Given the description of an element on the screen output the (x, y) to click on. 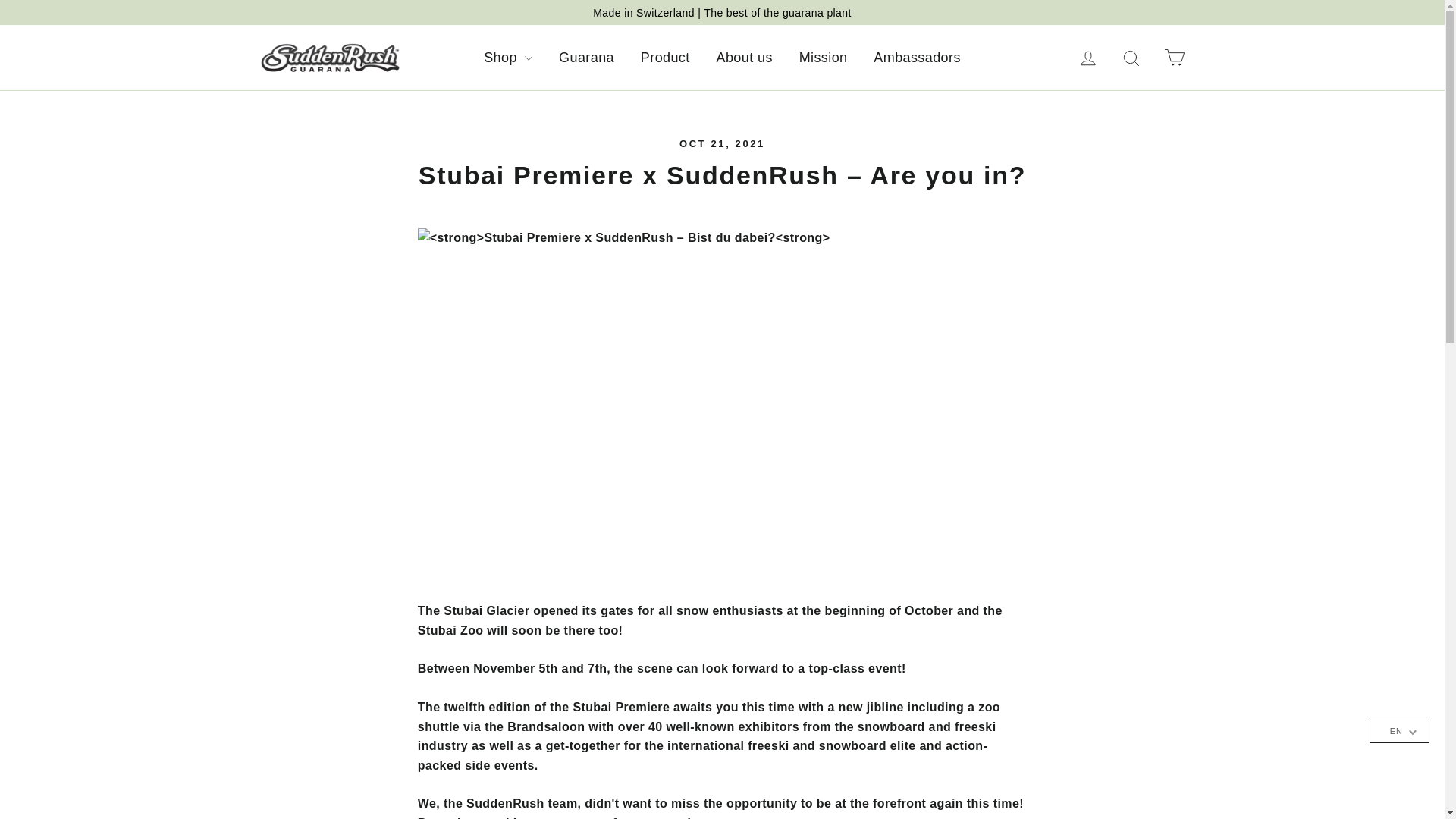
Product (664, 57)
Ambassadors (916, 57)
Log in (1088, 57)
About us (744, 57)
Shop (507, 57)
Guarana (586, 57)
Search (1131, 57)
Mission (823, 57)
Cart (1173, 57)
